Given the description of an element on the screen output the (x, y) to click on. 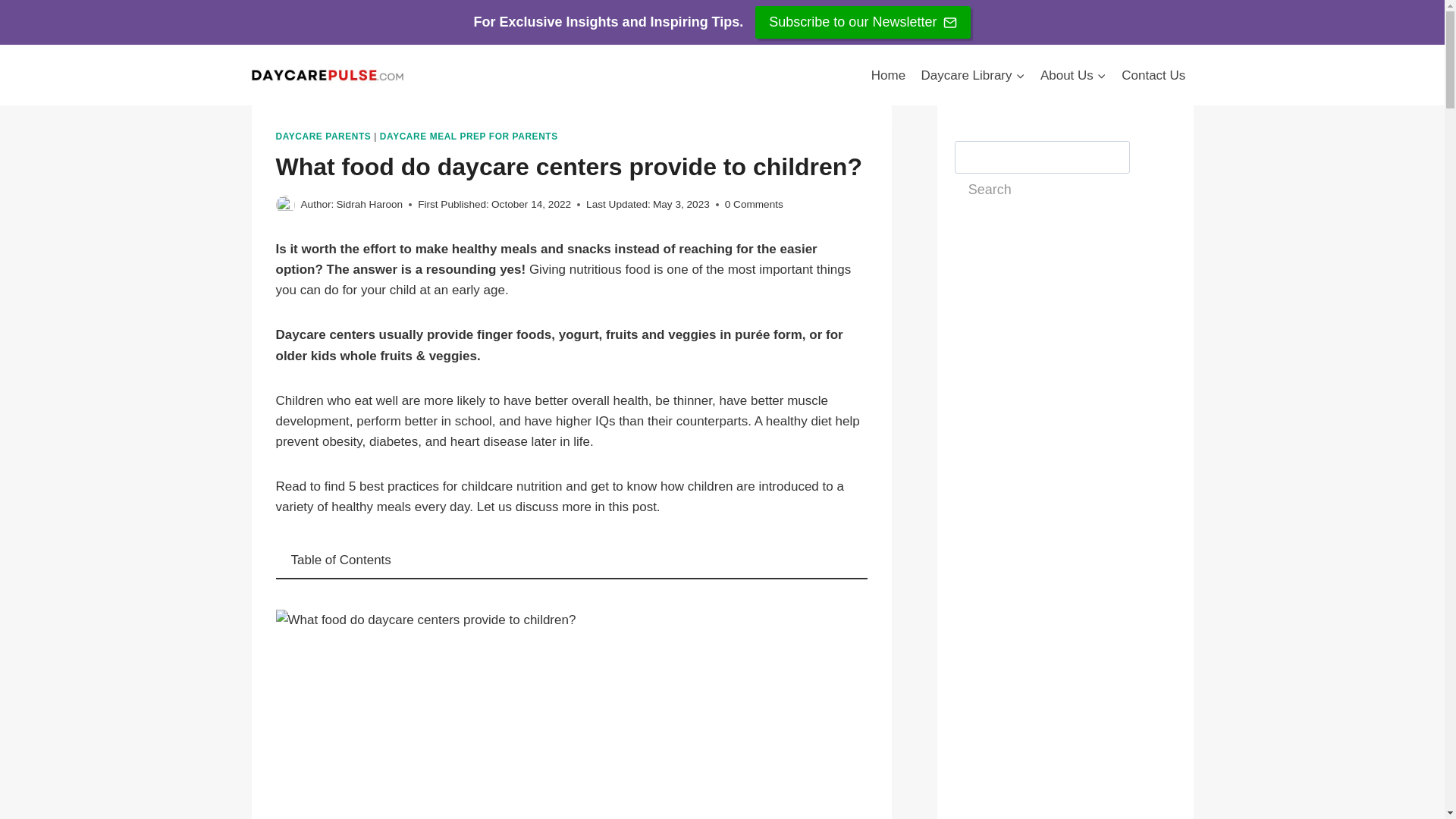
Contact Us (1152, 74)
Home (888, 74)
About Us (1072, 74)
DAYCARE MEAL PREP FOR PARENTS (468, 136)
0 Comments (754, 204)
Sidrah Haroon (369, 204)
DAYCARE PARENTS (323, 136)
0 Comments (754, 204)
What food do daycare centers provide to children? (571, 714)
Subscribe to our Newsletter (863, 21)
Daycare Library (972, 74)
